Given the description of an element on the screen output the (x, y) to click on. 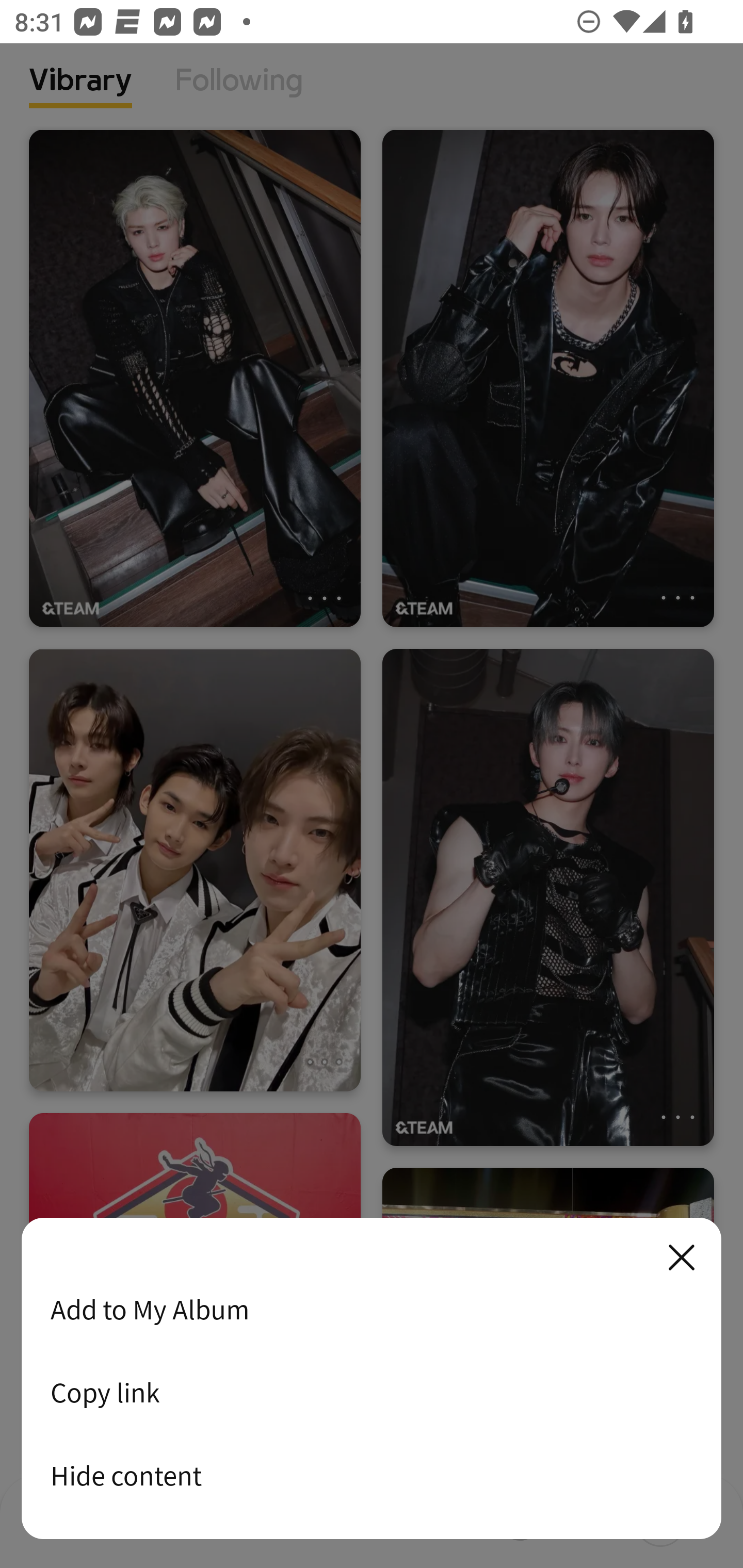
Add to My Album Copy link Hide content (371, 1378)
Add to My Album (371, 1308)
Copy link (371, 1391)
Hide content (371, 1474)
